Given the description of an element on the screen output the (x, y) to click on. 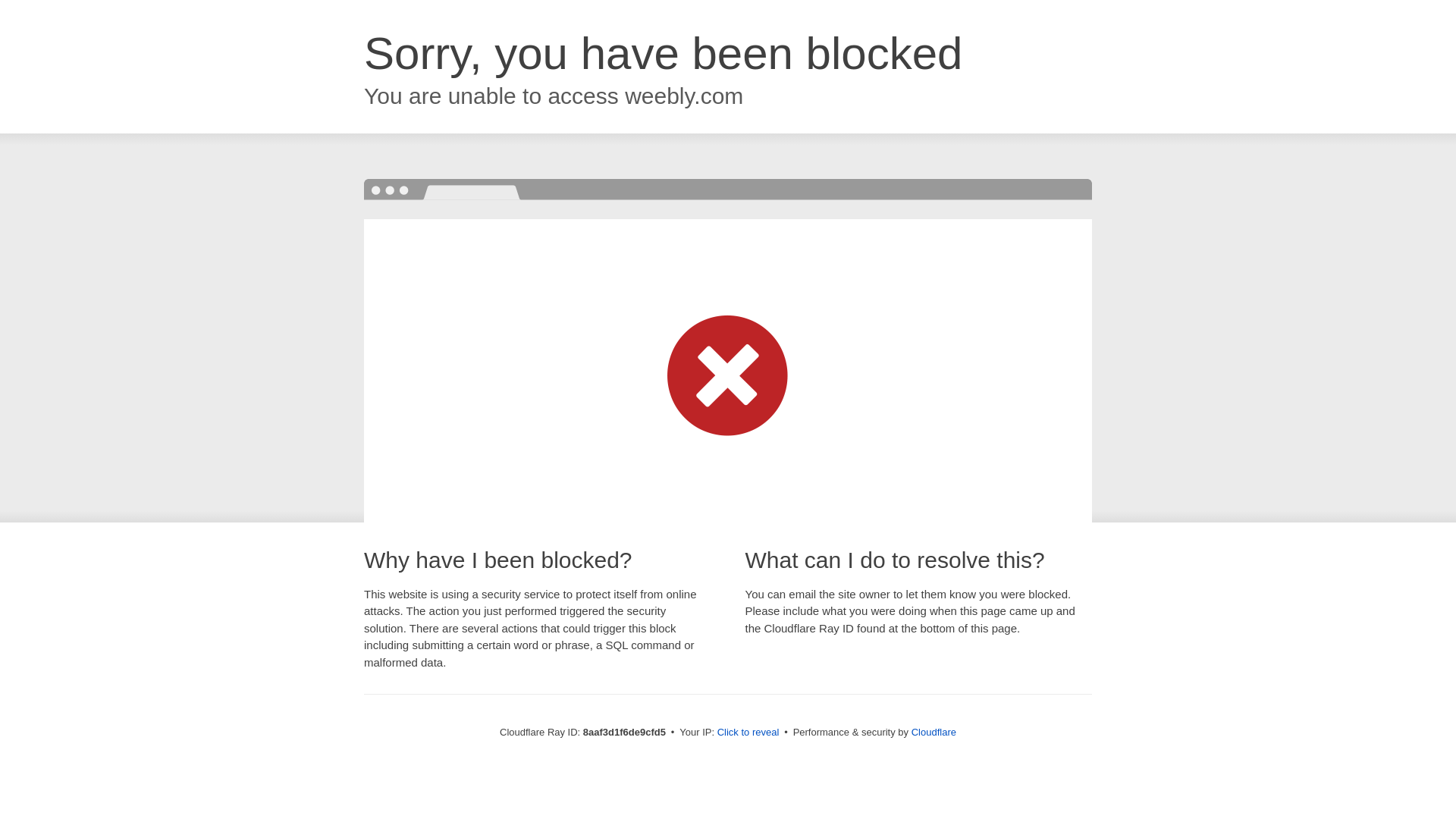
Cloudflare (933, 731)
Click to reveal (747, 732)
